Given the description of an element on the screen output the (x, y) to click on. 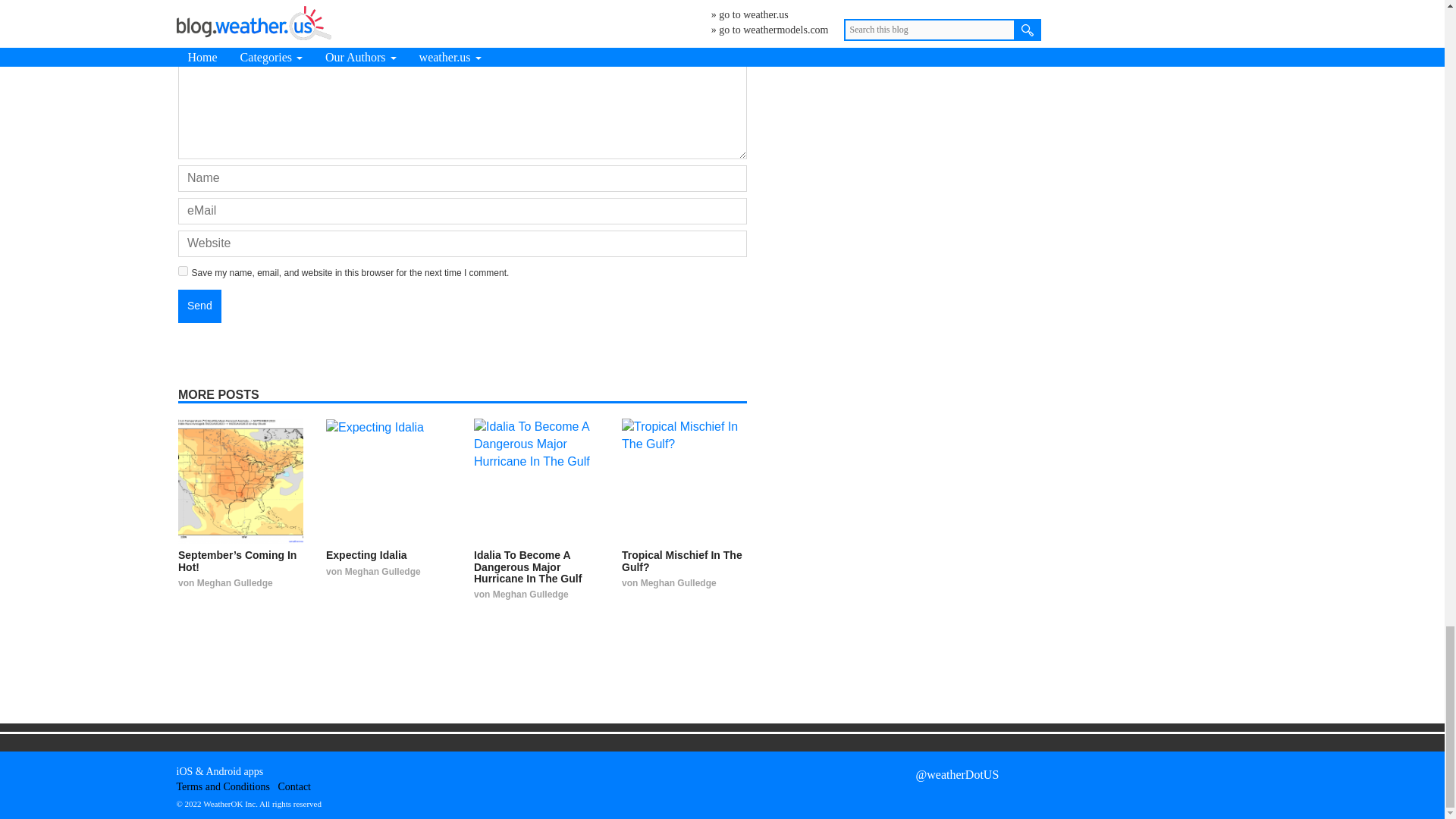
Idalia To Become A Dangerous Major Hurricane In The Gulf (536, 480)
yes (182, 271)
Idalia To Become A Dangerous Major Hurricane In The Gulf (527, 566)
Tropical Mischief In The Gulf? (681, 560)
Expecting Idalia (388, 480)
Send (199, 305)
Expecting Idalia (366, 554)
Tropical Mischief In The Gulf? (683, 480)
